Given the description of an element on the screen output the (x, y) to click on. 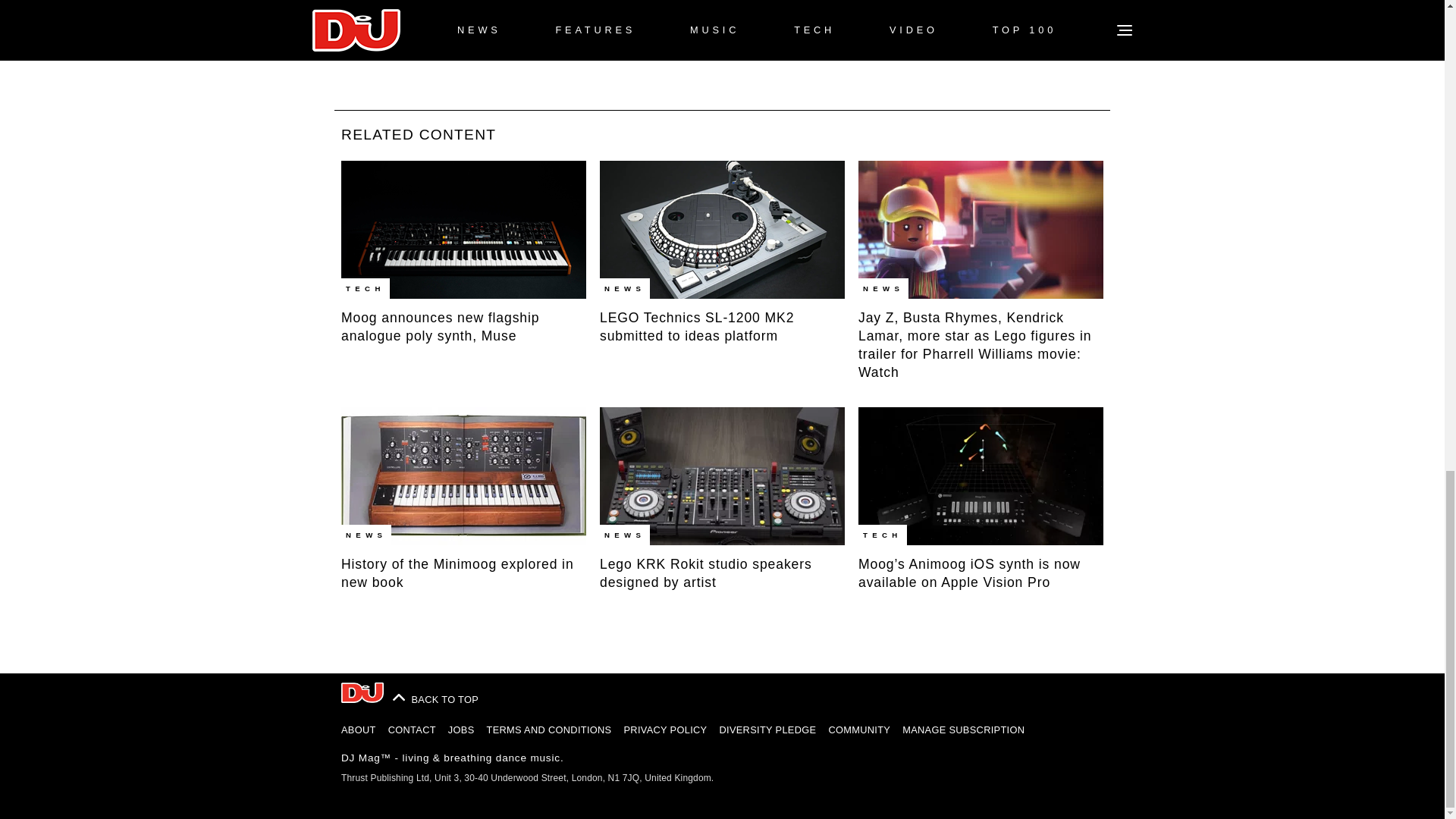
DjMag (362, 692)
